Given the description of an element on the screen output the (x, y) to click on. 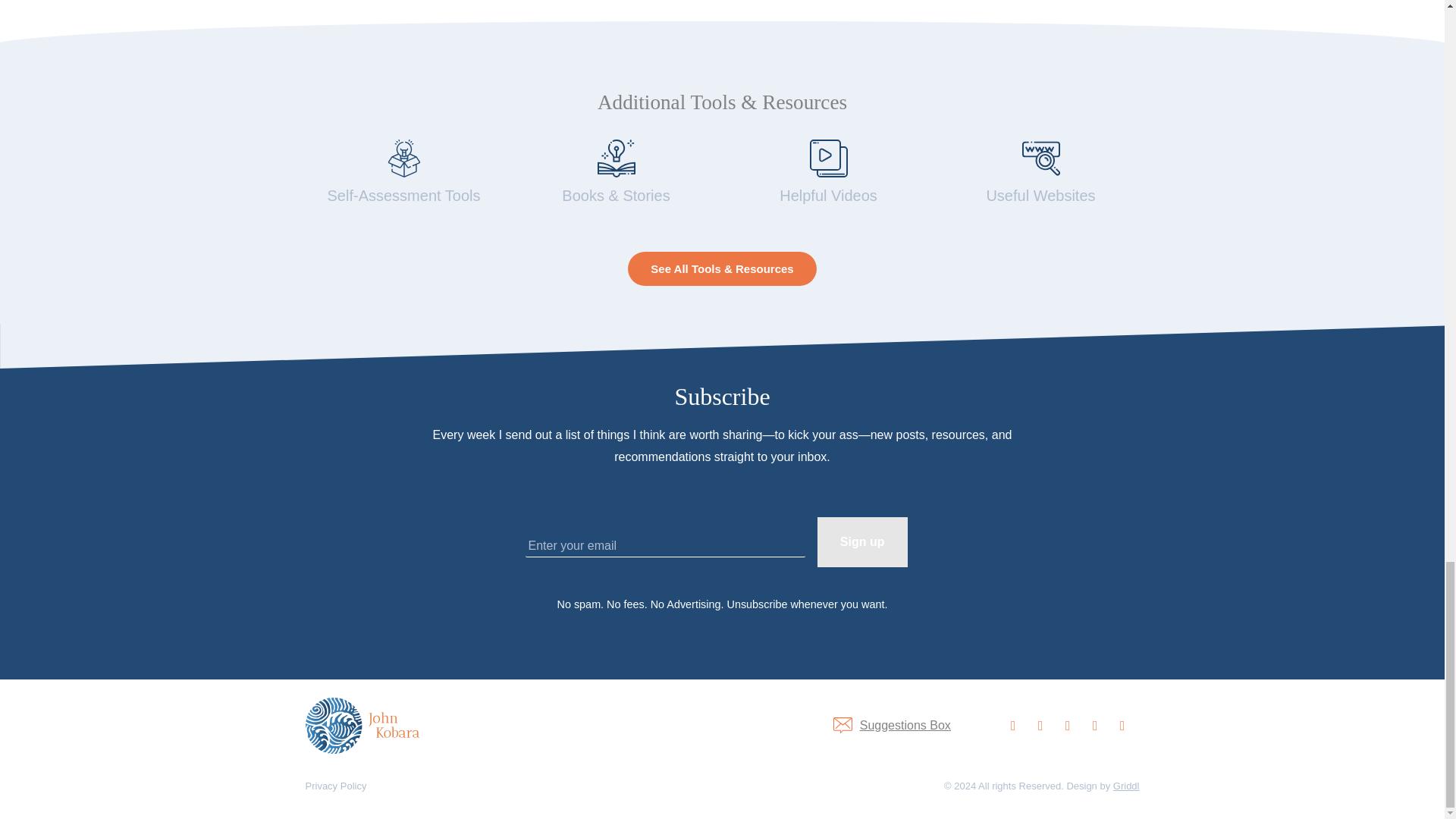
Sign up (861, 541)
